Given the description of an element on the screen output the (x, y) to click on. 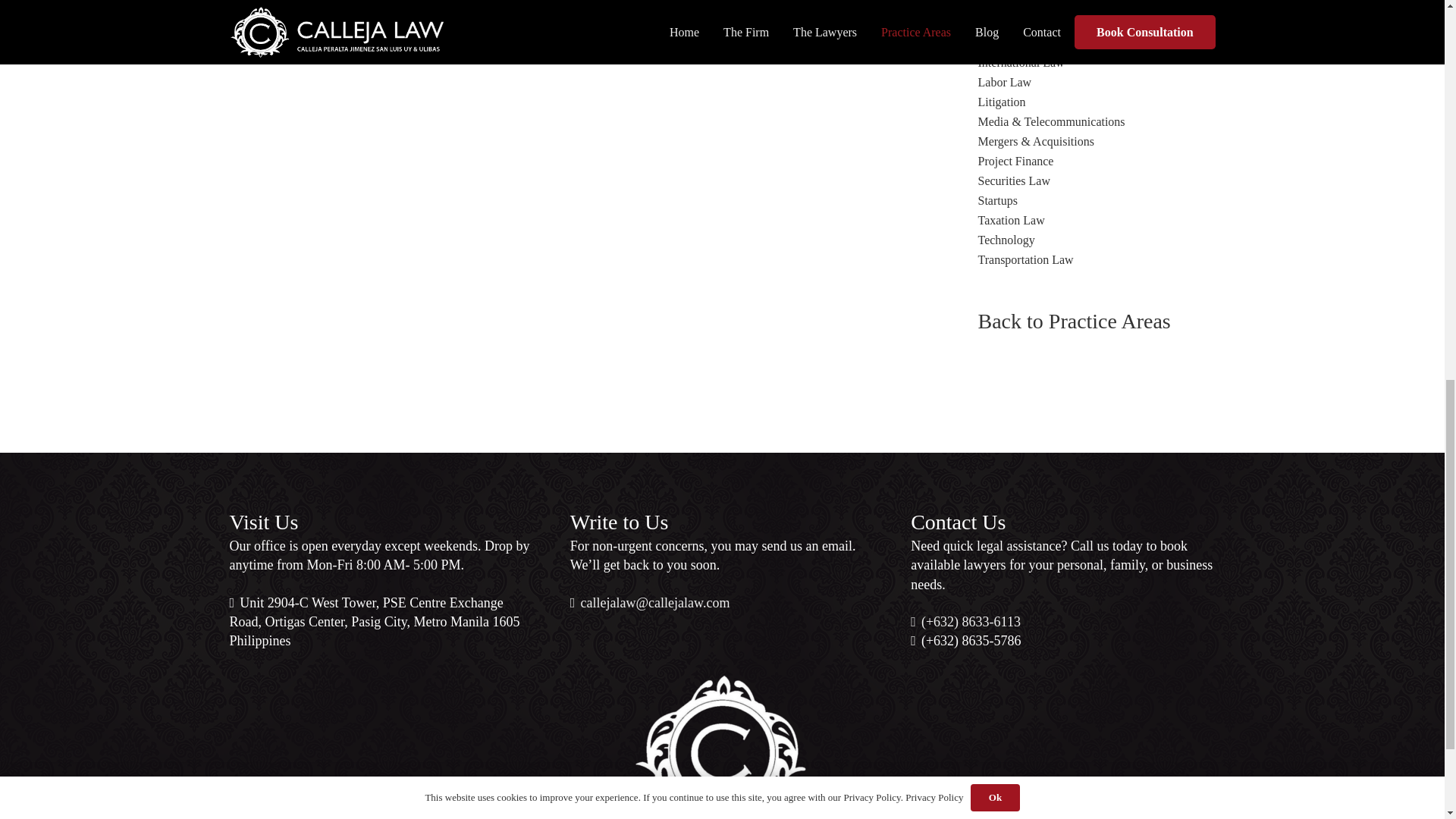
The Firm (650, 602)
Intellectual Property Law (1040, 42)
